Given the description of an element on the screen output the (x, y) to click on. 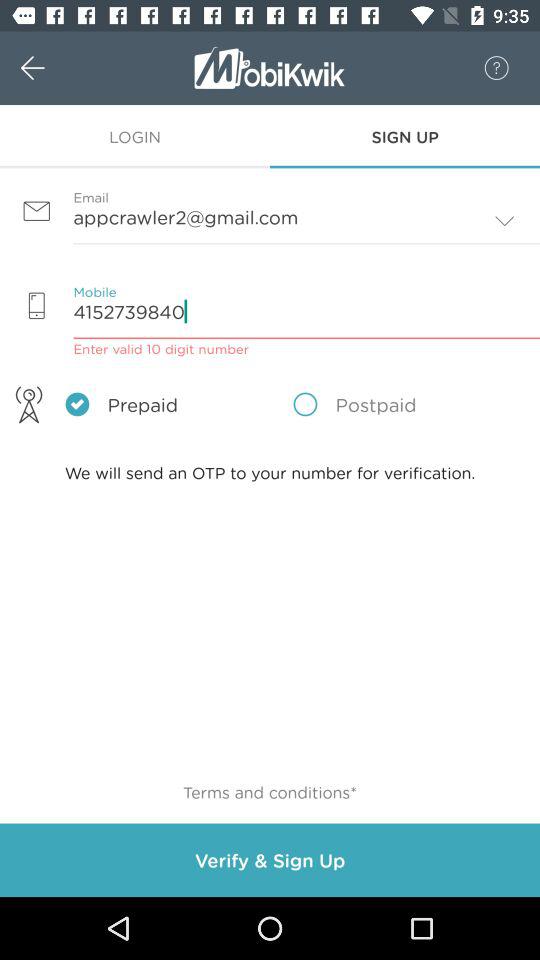
click on terms and conditions (269, 792)
